Given the description of an element on the screen output the (x, y) to click on. 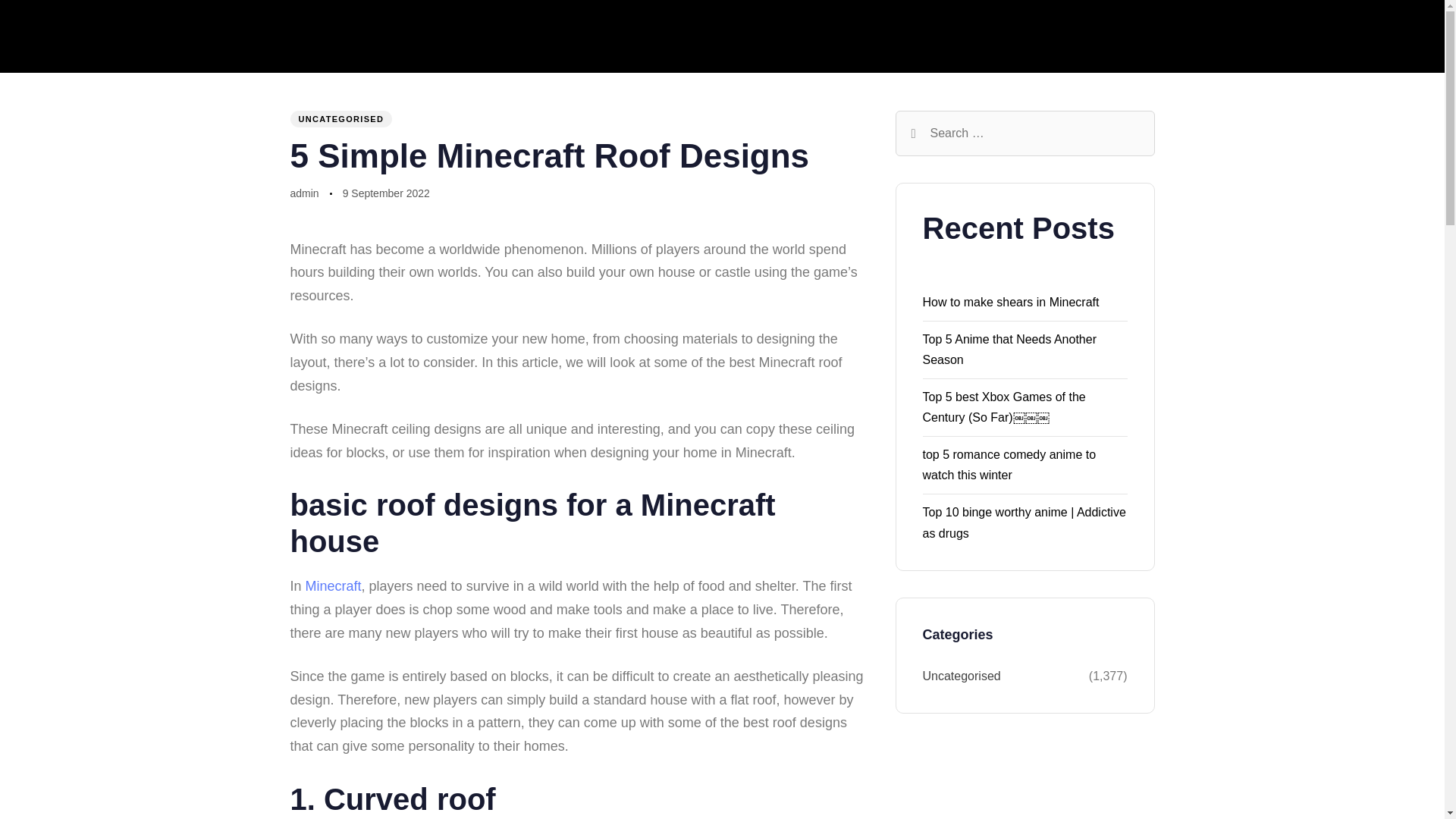
Minecraft (333, 585)
top 5 romance comedy anime to watch this winter (1008, 464)
How to make shears in Minecraft (1010, 301)
9 September 2022 (385, 194)
Uncategorised (1004, 675)
UNCATEGORISED (340, 118)
Posts by admin (303, 193)
admin (303, 193)
Top 5 Anime that Needs Another Season (1008, 349)
